Given the description of an element on the screen output the (x, y) to click on. 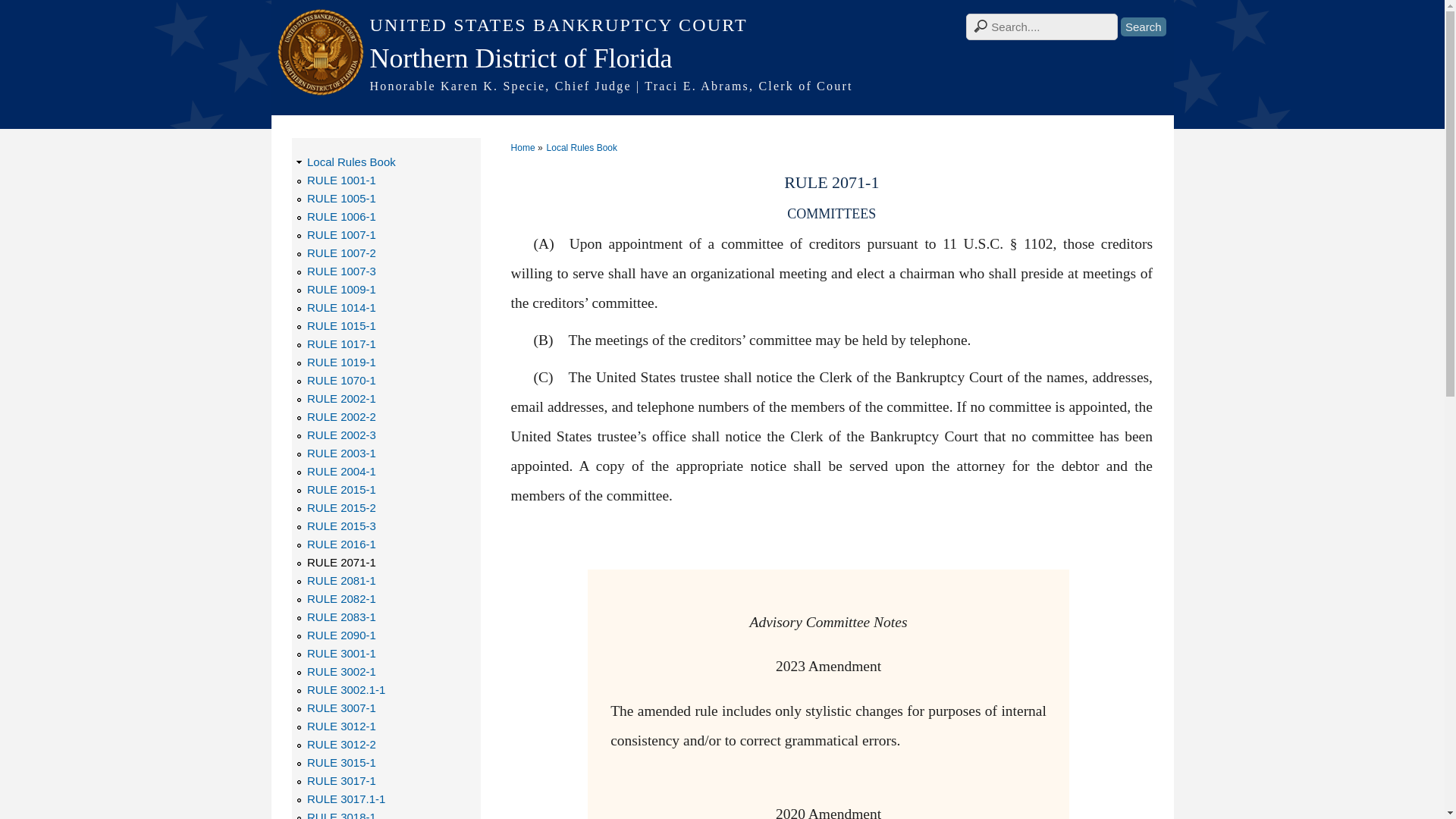
Home (721, 86)
Search (1143, 26)
Enter the terms you wish to search for. (1042, 26)
Home (721, 57)
UNITED STATES BANKRUPTCY COURT (721, 25)
Search (1143, 26)
Home (721, 25)
Northern District of Florida (721, 57)
